Given the description of an element on the screen output the (x, y) to click on. 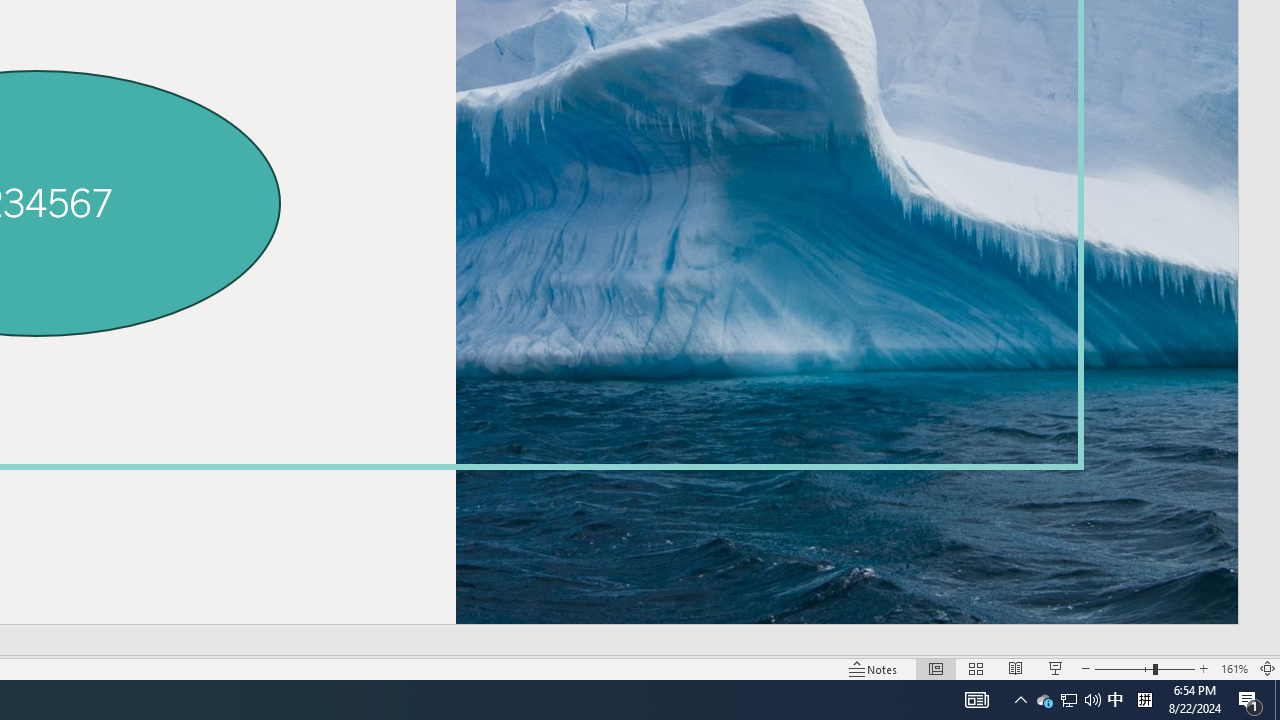
Zoom 161% (1234, 668)
